Given the description of an element on the screen output the (x, y) to click on. 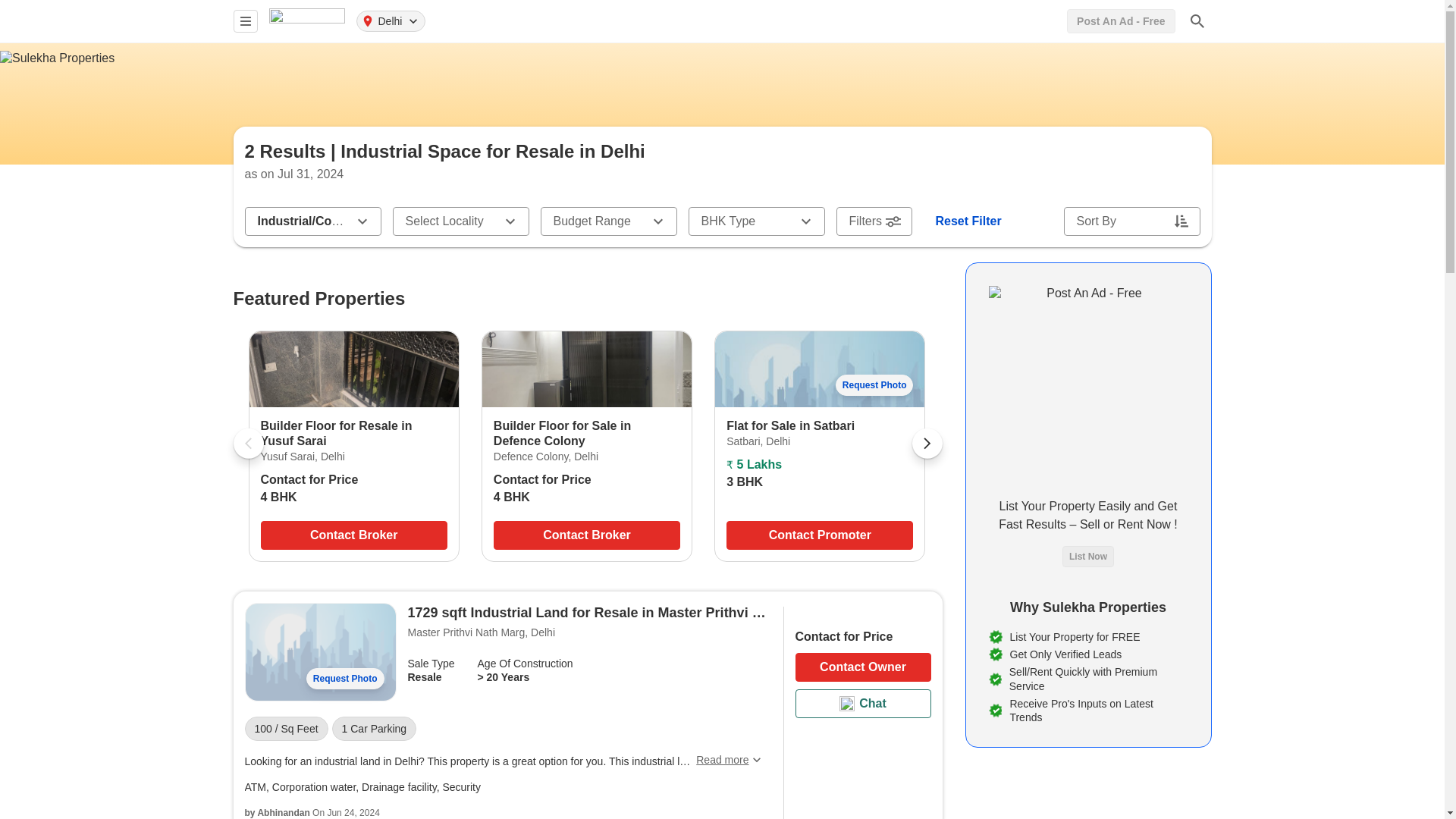
Post An Ad - Free (1120, 21)
Sulekha Property (305, 20)
Post An Ad - Free (1120, 21)
